Given the description of an element on the screen output the (x, y) to click on. 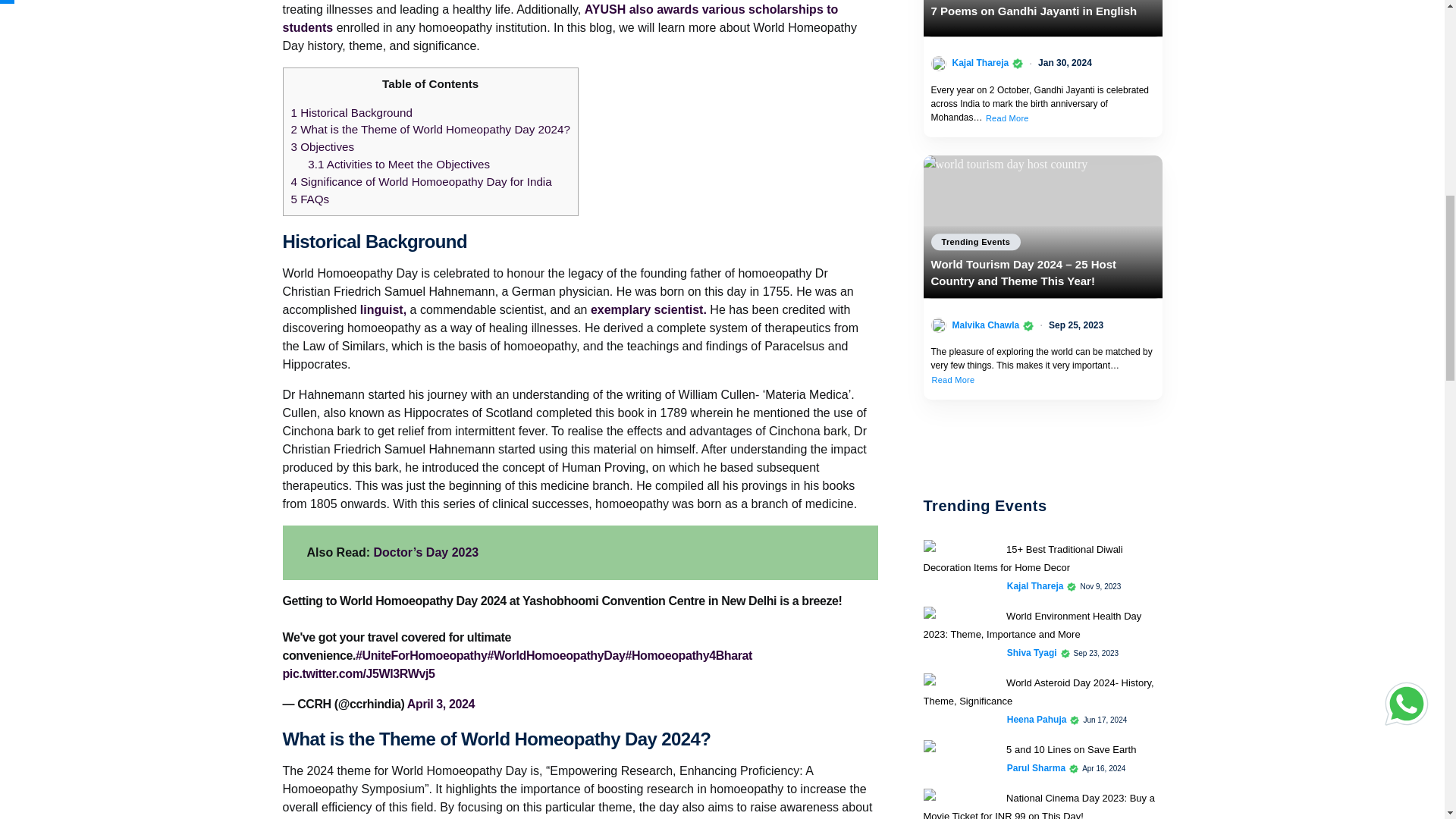
View all posts by Kajal Thareja (980, 62)
View all posts by Parul Sharma (1036, 767)
View all posts by Heena Pahuja (1037, 719)
View all posts by Shiva Tyagi (1032, 653)
View all posts by Malvika Chawla (986, 325)
View all posts by Kajal Thareja (1035, 585)
